Given the description of an element on the screen output the (x, y) to click on. 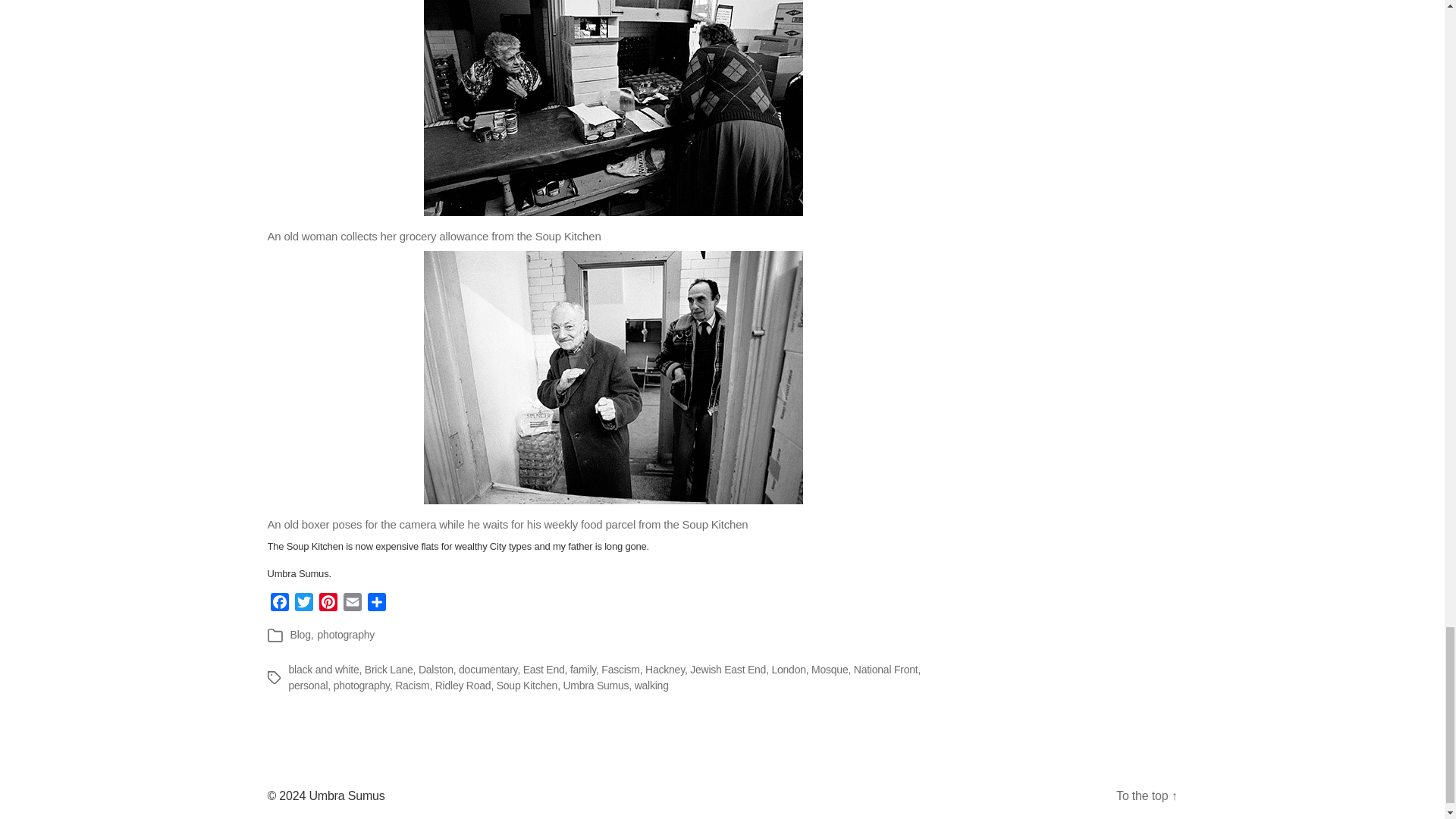
Pinterest (327, 604)
Twitter (303, 604)
Facebook (278, 604)
Email (351, 604)
